Given the description of an element on the screen output the (x, y) to click on. 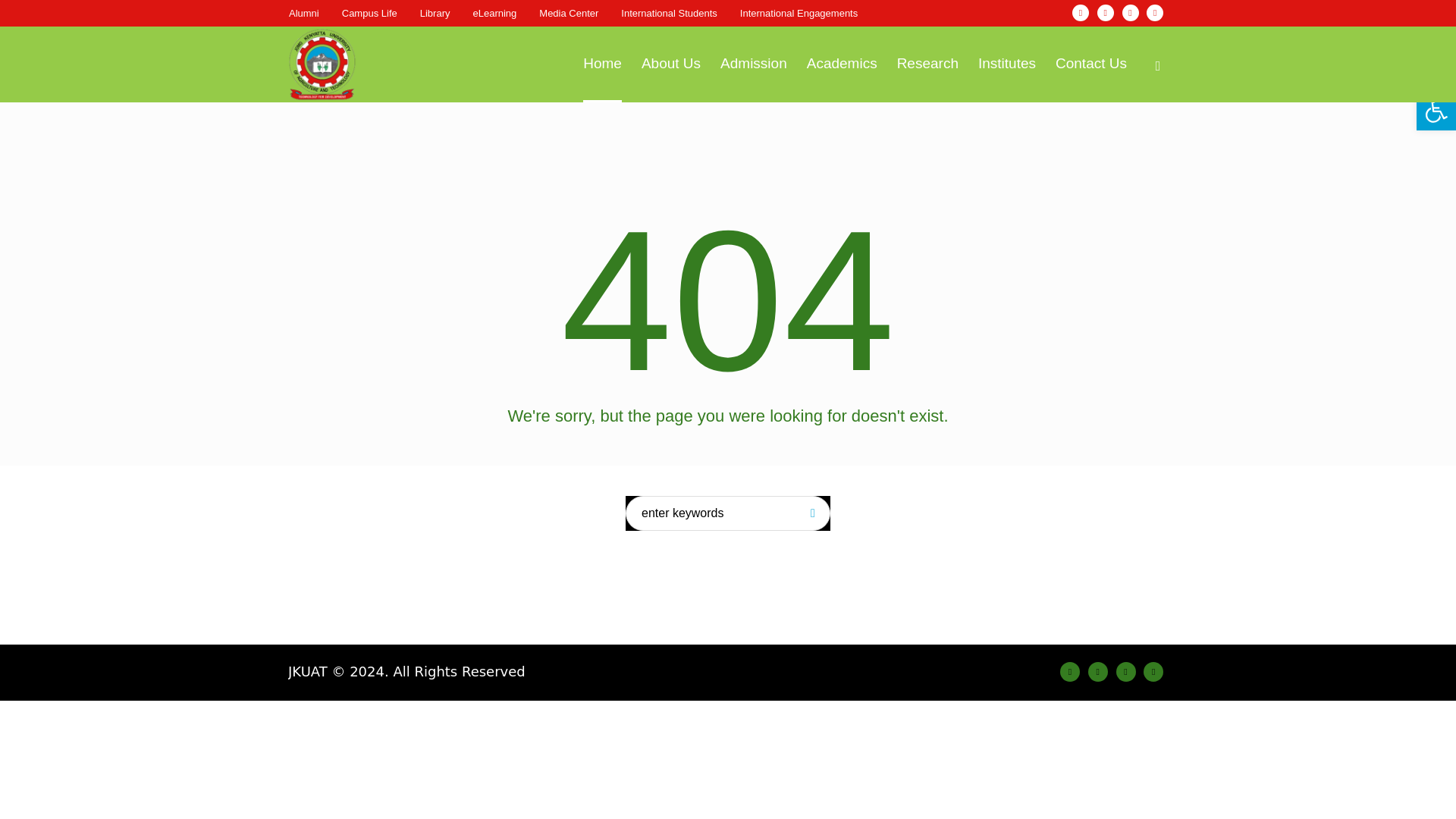
Alumni (303, 12)
Facebook (1069, 671)
International Engagements (798, 12)
Instagram (1097, 671)
Instagram (1105, 12)
YouTube (1152, 671)
Media Center (568, 12)
Library (434, 12)
YouTube (1155, 12)
eLearning (493, 12)
Twitter (1125, 671)
Campus Life (369, 12)
Twitter (1130, 12)
About Us (670, 64)
International Students (668, 12)
